Given the description of an element on the screen output the (x, y) to click on. 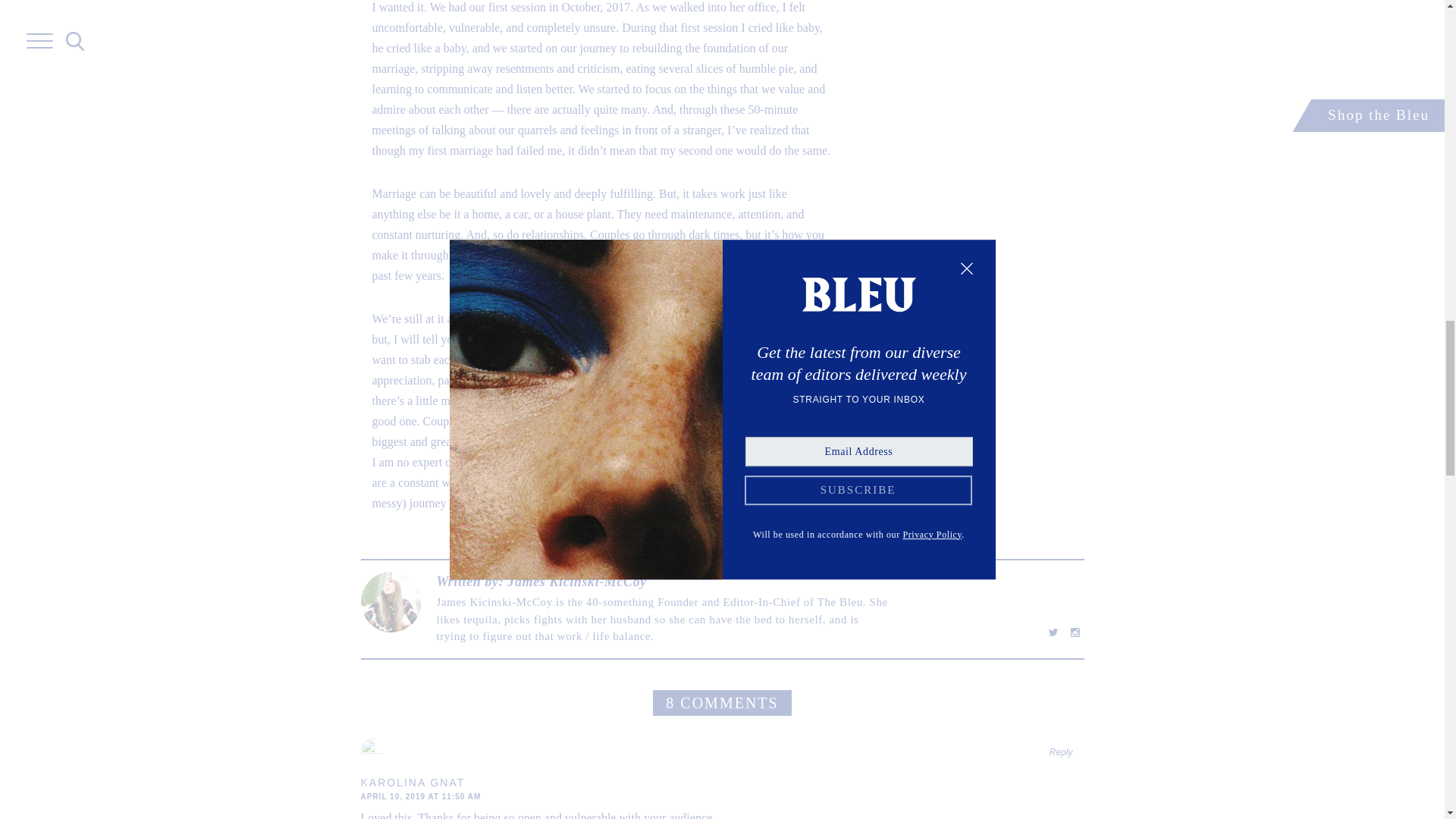
Reply (1061, 751)
